Given the description of an element on the screen output the (x, y) to click on. 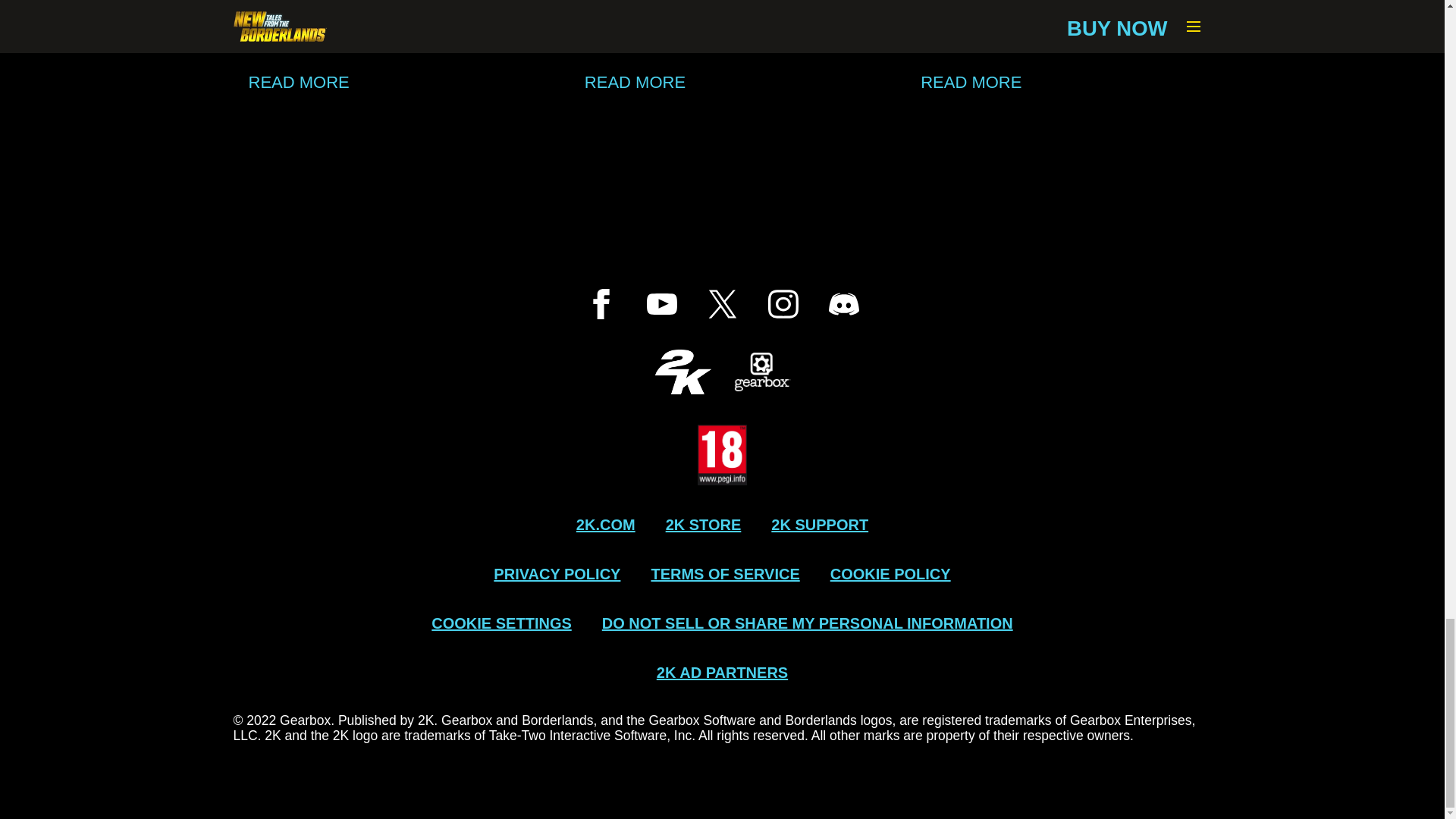
READ MORE (386, 82)
READ MORE (722, 82)
READ MORE (1057, 82)
